Given the description of an element on the screen output the (x, y) to click on. 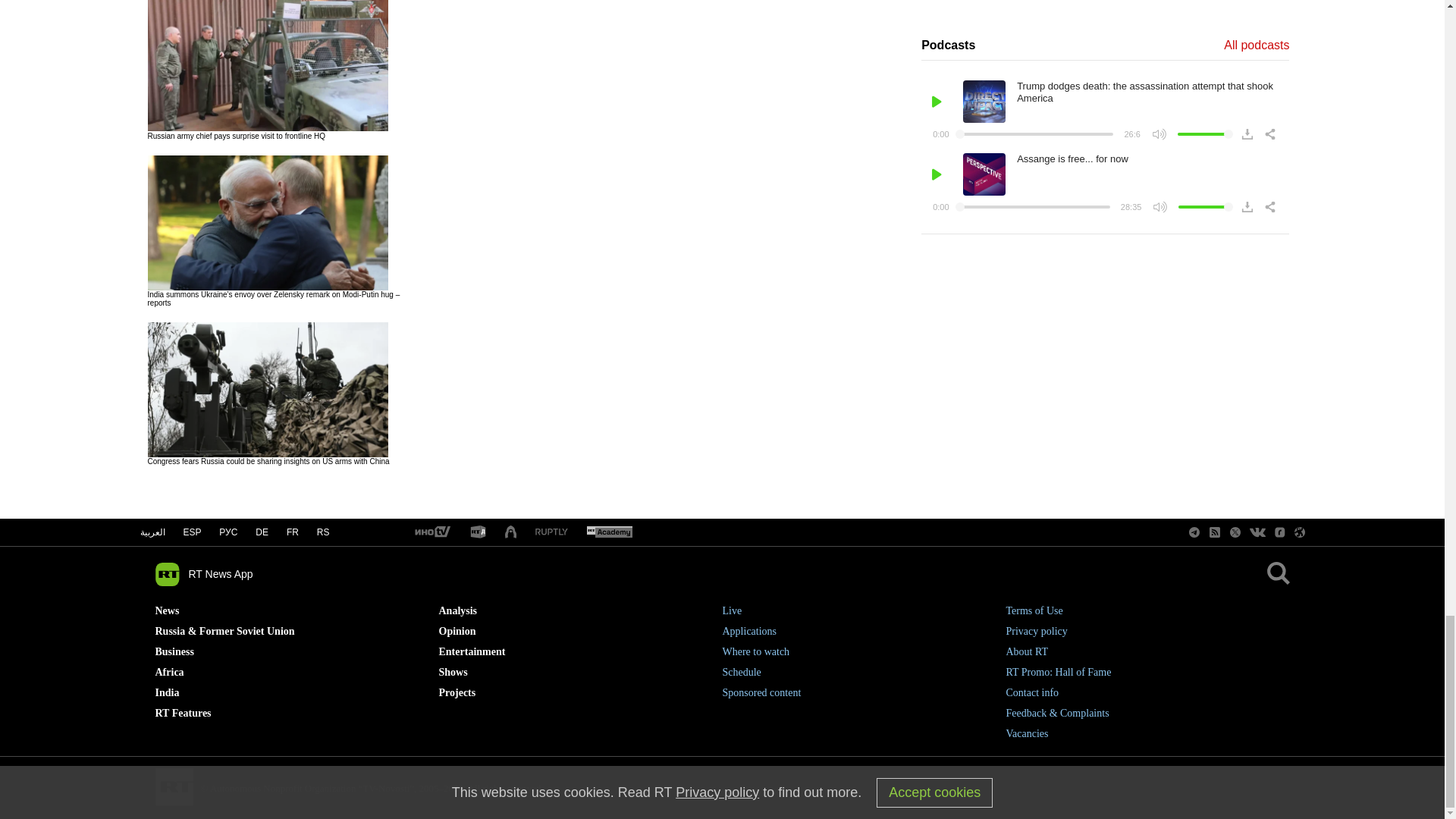
RT  (608, 532)
RT  (431, 532)
RT  (551, 532)
RT  (478, 532)
